Given the description of an element on the screen output the (x, y) to click on. 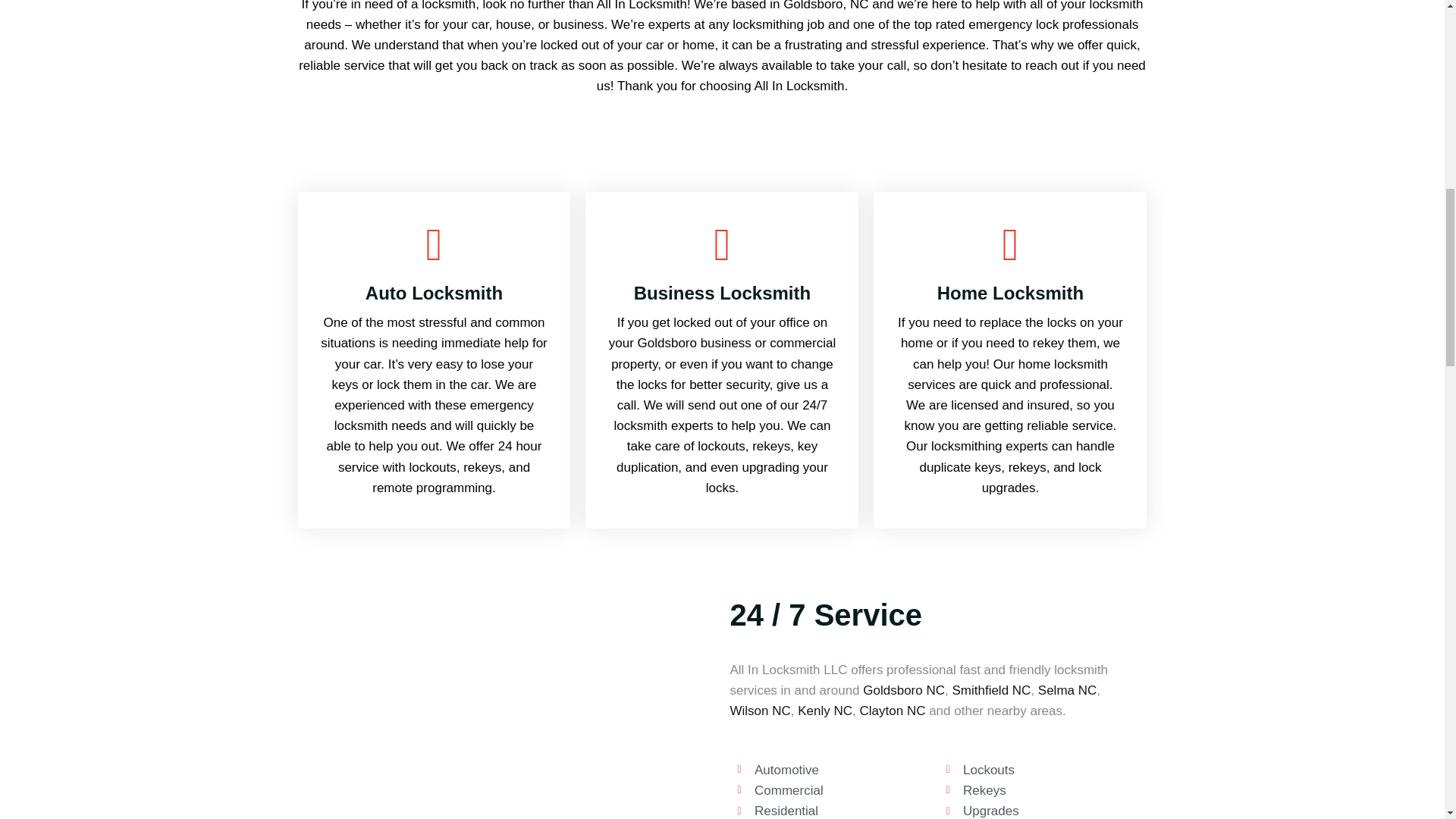
Selma NC (1067, 690)
Clayton NC (893, 710)
Kenly NC (824, 710)
Goldsboro NC (903, 690)
Commercial Services (858, 528)
Smithfield NC (991, 690)
Car Services (569, 528)
Wilson NC (759, 710)
